Given the description of an element on the screen output the (x, y) to click on. 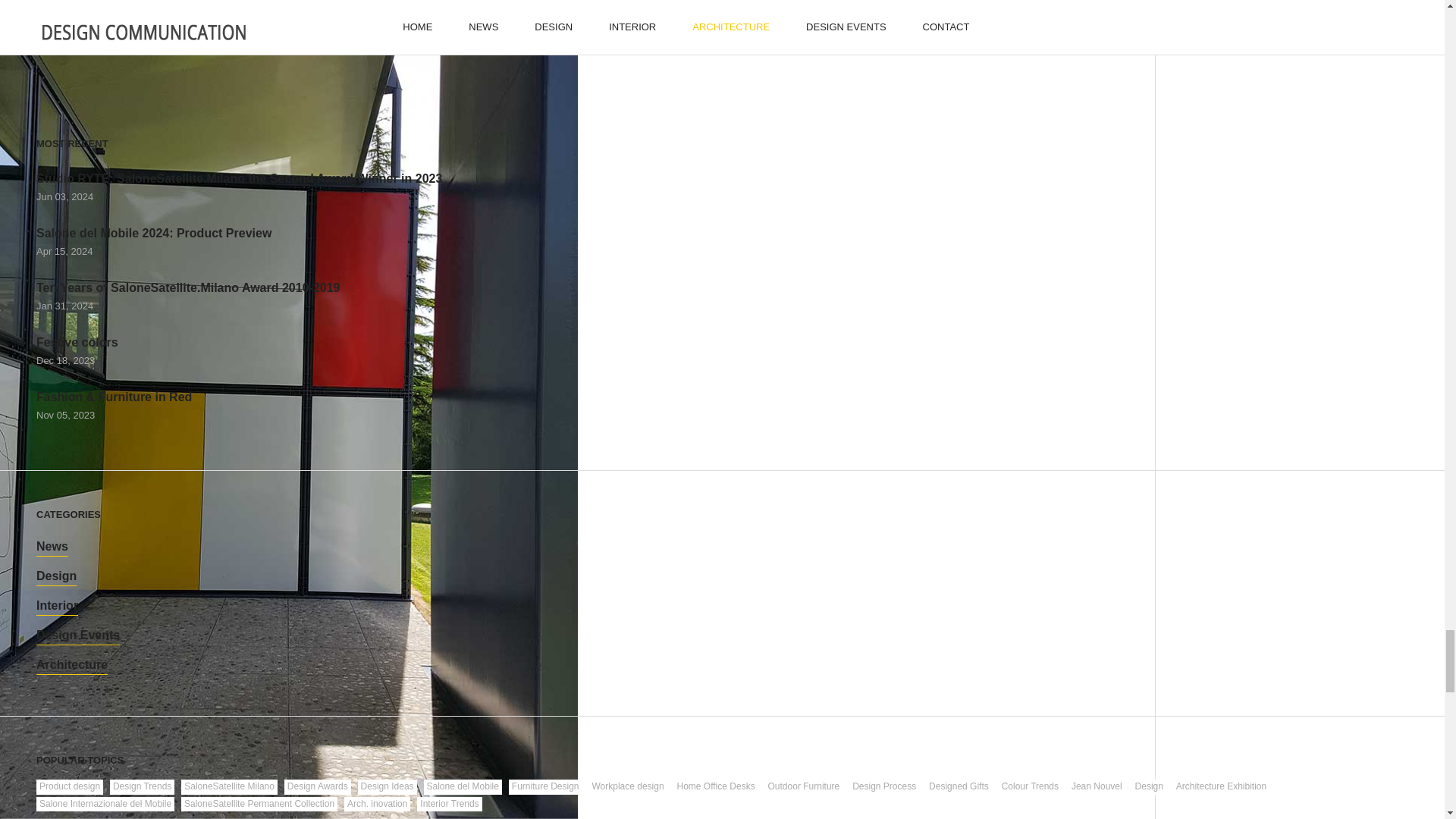
Design (56, 576)
News (52, 546)
Prev (796, 13)
Salone del Mobile 2024: Product Preview (153, 233)
Interior (57, 606)
Next (1369, 13)
Ten Years of SaloneSatellite.Milano Award 2010-2019 (187, 288)
Festive colors (76, 342)
Design Events (77, 635)
